Given the description of an element on the screen output the (x, y) to click on. 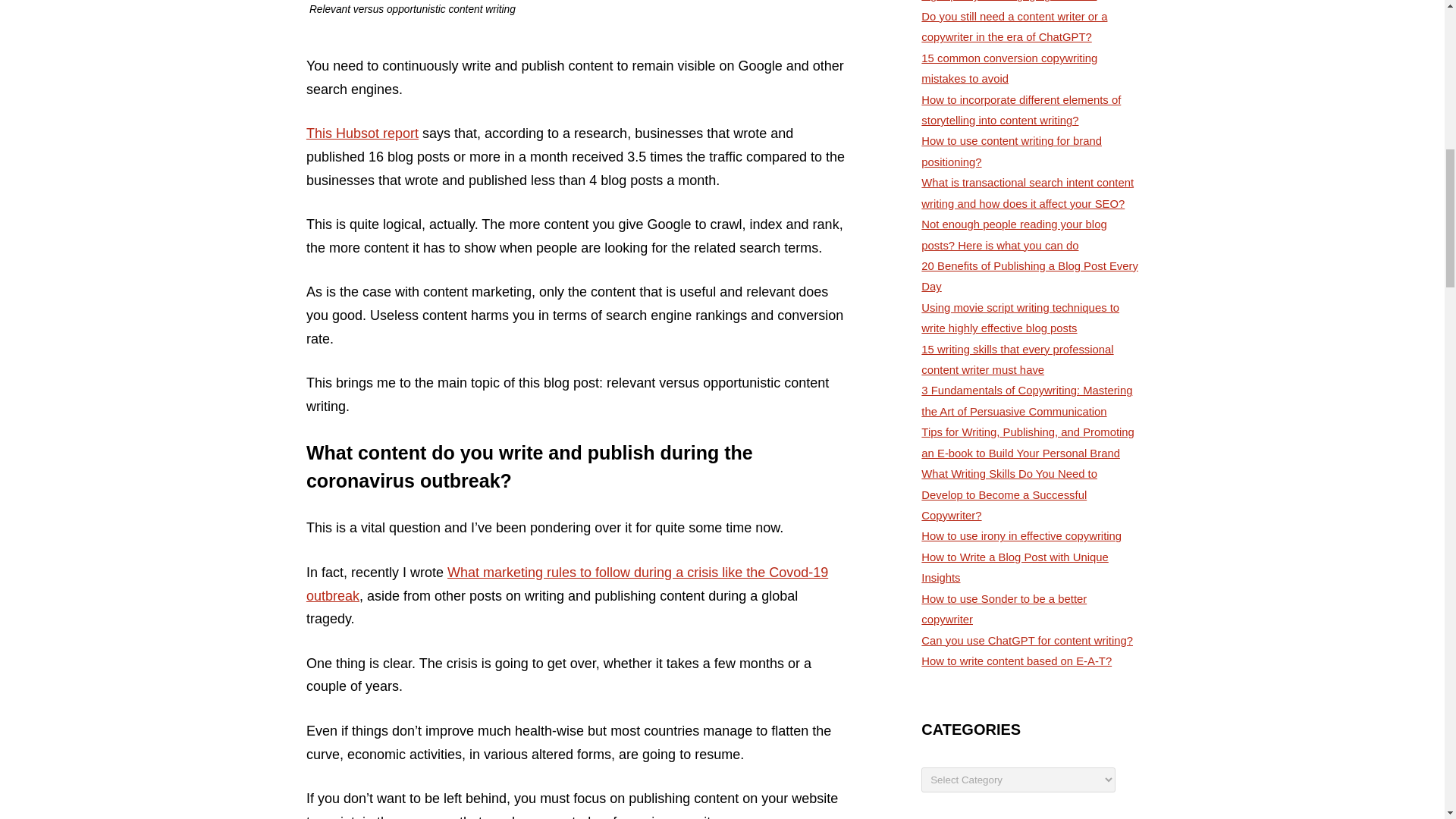
This Hubsot report (362, 133)
How to use content writing for brand positioning? (1011, 151)
20 Benefits of Publishing a Blog Post Every Day (1029, 276)
How to Write a Blog Post with Unique Insights (1014, 567)
